Given the description of an element on the screen output the (x, y) to click on. 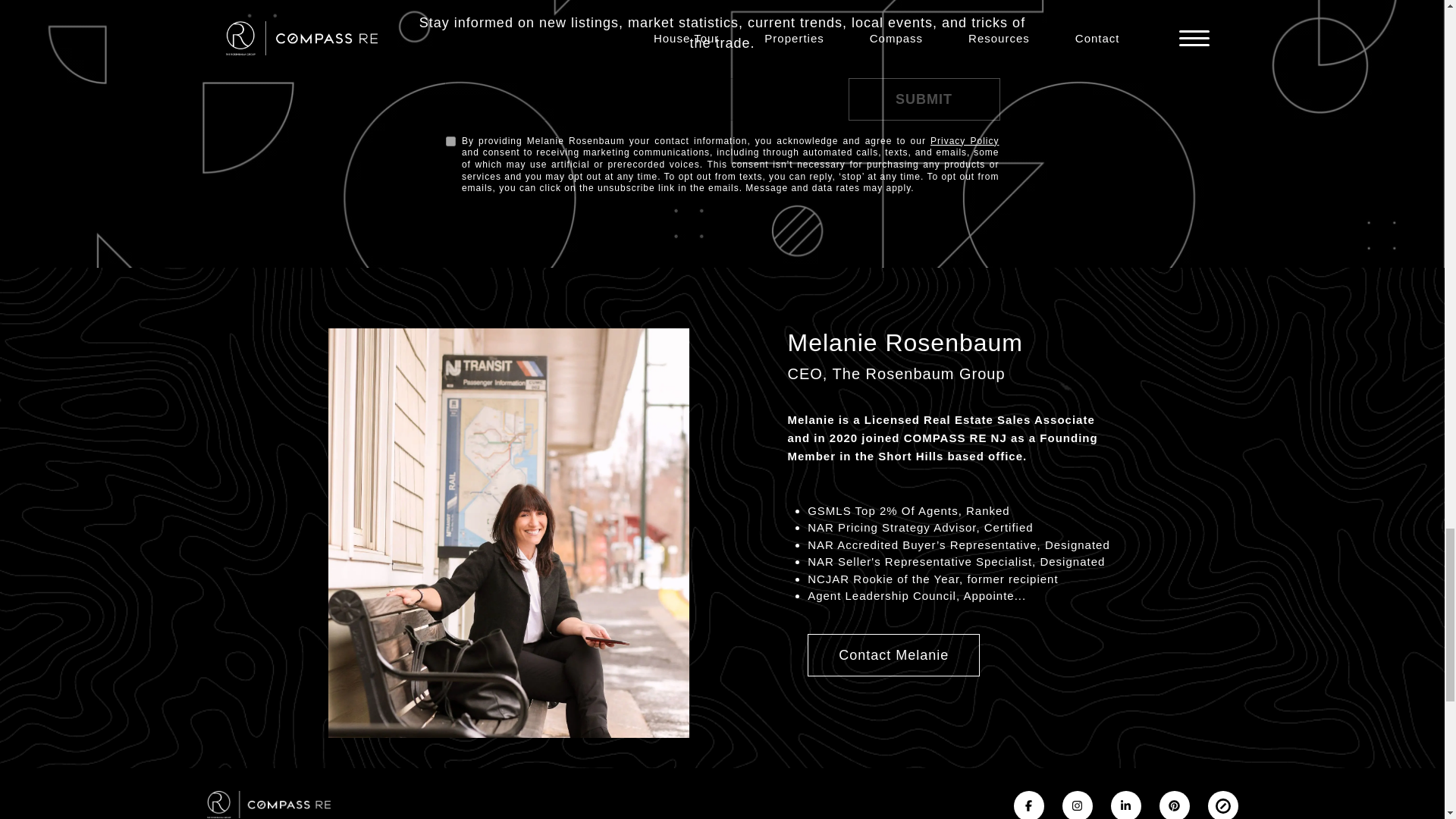
on (450, 141)
